Given the description of an element on the screen output the (x, y) to click on. 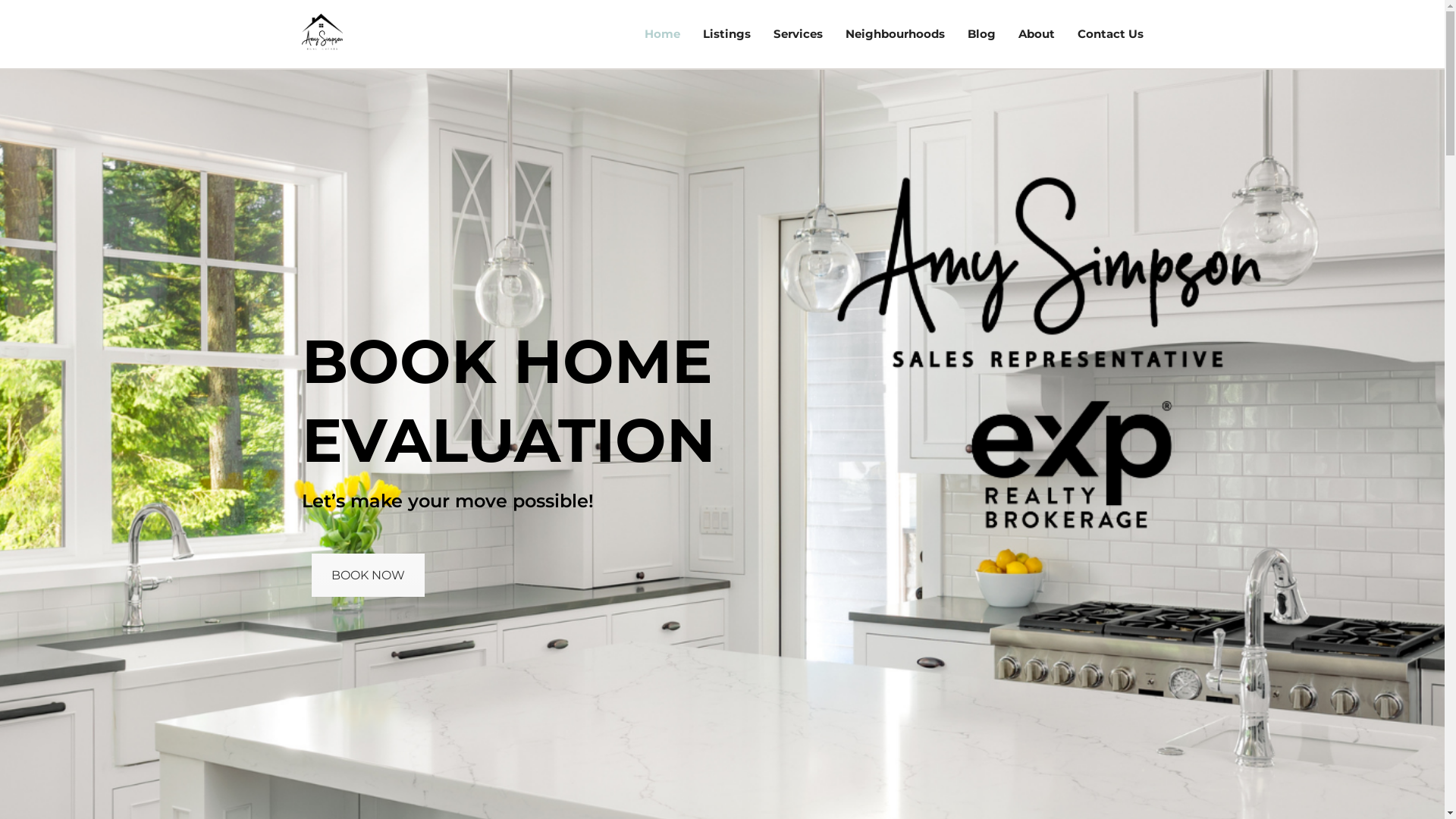
Services Element type: text (797, 34)
About Element type: text (1036, 34)
Contact Us Element type: text (1110, 34)
Listings Element type: text (726, 34)
BOOK NOW Element type: text (366, 574)
Home Element type: text (661, 34)
Blog Element type: text (980, 34)
Neighbourhoods Element type: text (895, 34)
